Given the description of an element on the screen output the (x, y) to click on. 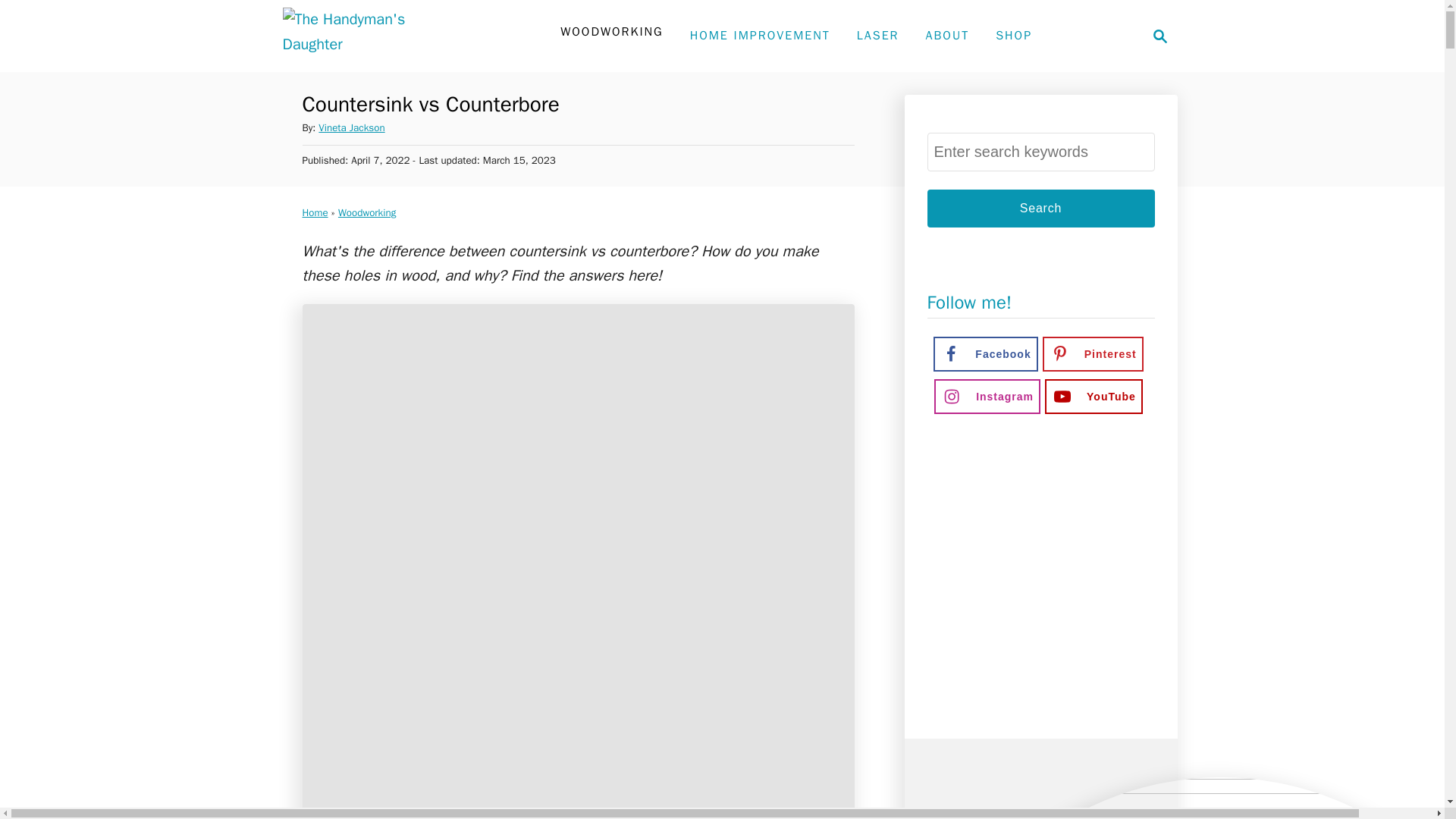
LASER (877, 35)
SHOP (1013, 35)
Magnifying Glass (1160, 36)
Follow on Facebook (984, 353)
Home (314, 212)
Search for: (1040, 151)
HOME IMPROVEMENT (760, 35)
Search (1040, 208)
Follow on Pinterest (1092, 353)
WOODWORKING (611, 31)
